Given the description of an element on the screen output the (x, y) to click on. 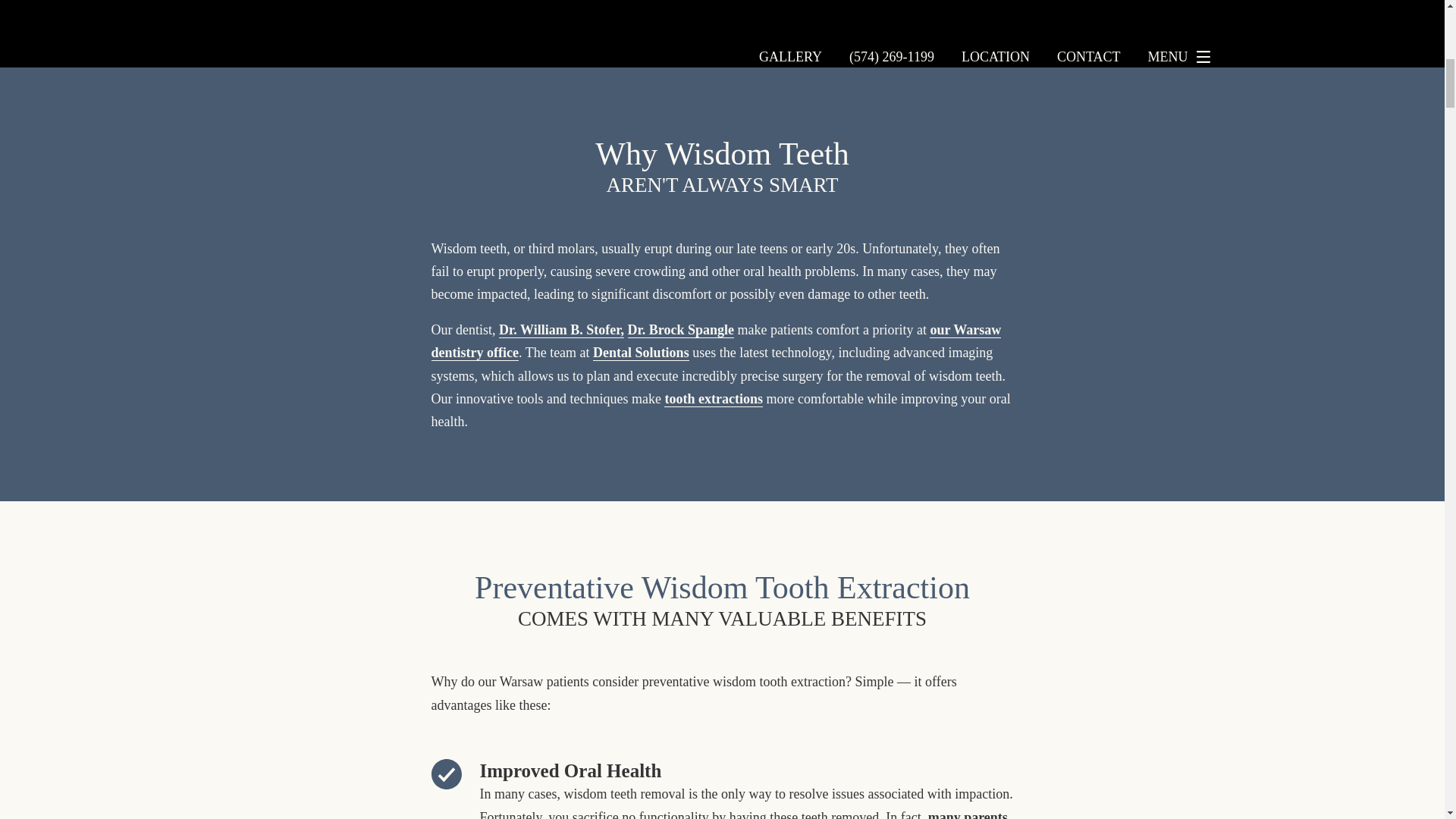
tooth extractions (712, 399)
Dental Solutions (640, 352)
Dr. Brock Spangle (681, 330)
our Warsaw dentistry office (715, 341)
Dr. William B. Stofer, (561, 330)
